Given the description of an element on the screen output the (x, y) to click on. 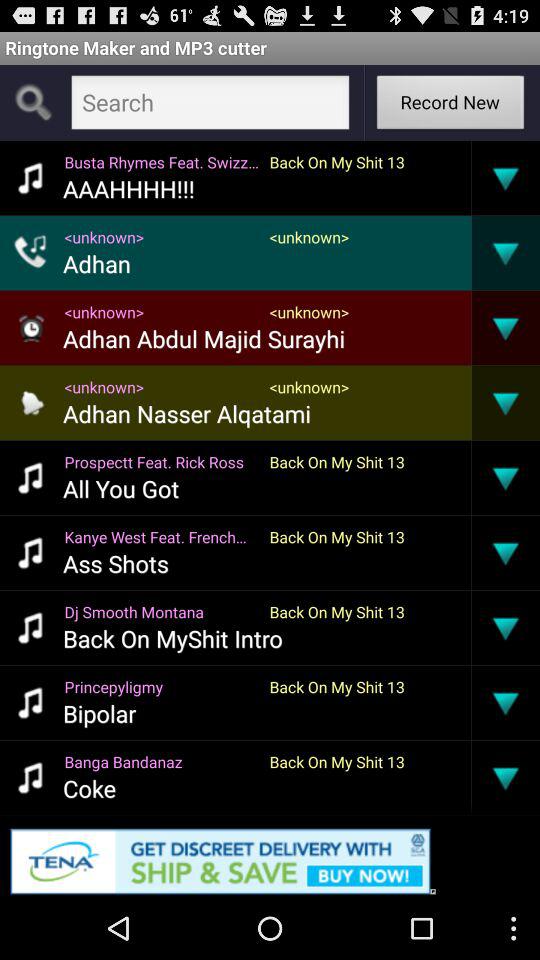
click item to the left of back on my (161, 611)
